Given the description of an element on the screen output the (x, y) to click on. 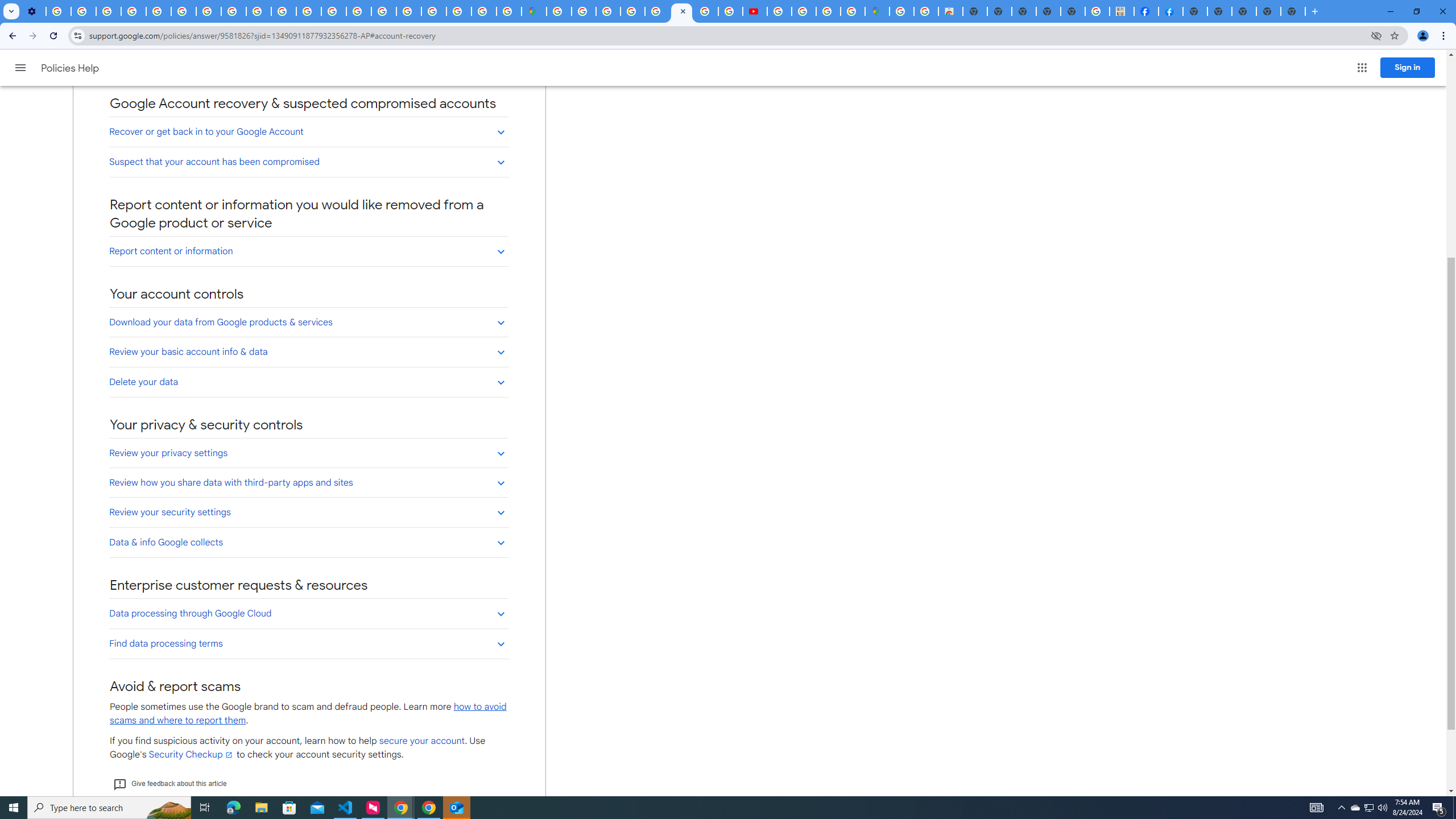
New Tab (1194, 11)
Main menu (20, 67)
Miley Cyrus | Facebook (1145, 11)
Report content or information (308, 250)
Suspect that your account has been compromised (308, 161)
Privacy Help Center - Policies Help (680, 11)
YouTube (182, 11)
New Tab (1292, 11)
help center and support forums (211, 69)
Policies Help (70, 68)
Subscriptions - YouTube (754, 11)
